Given the description of an element on the screen output the (x, y) to click on. 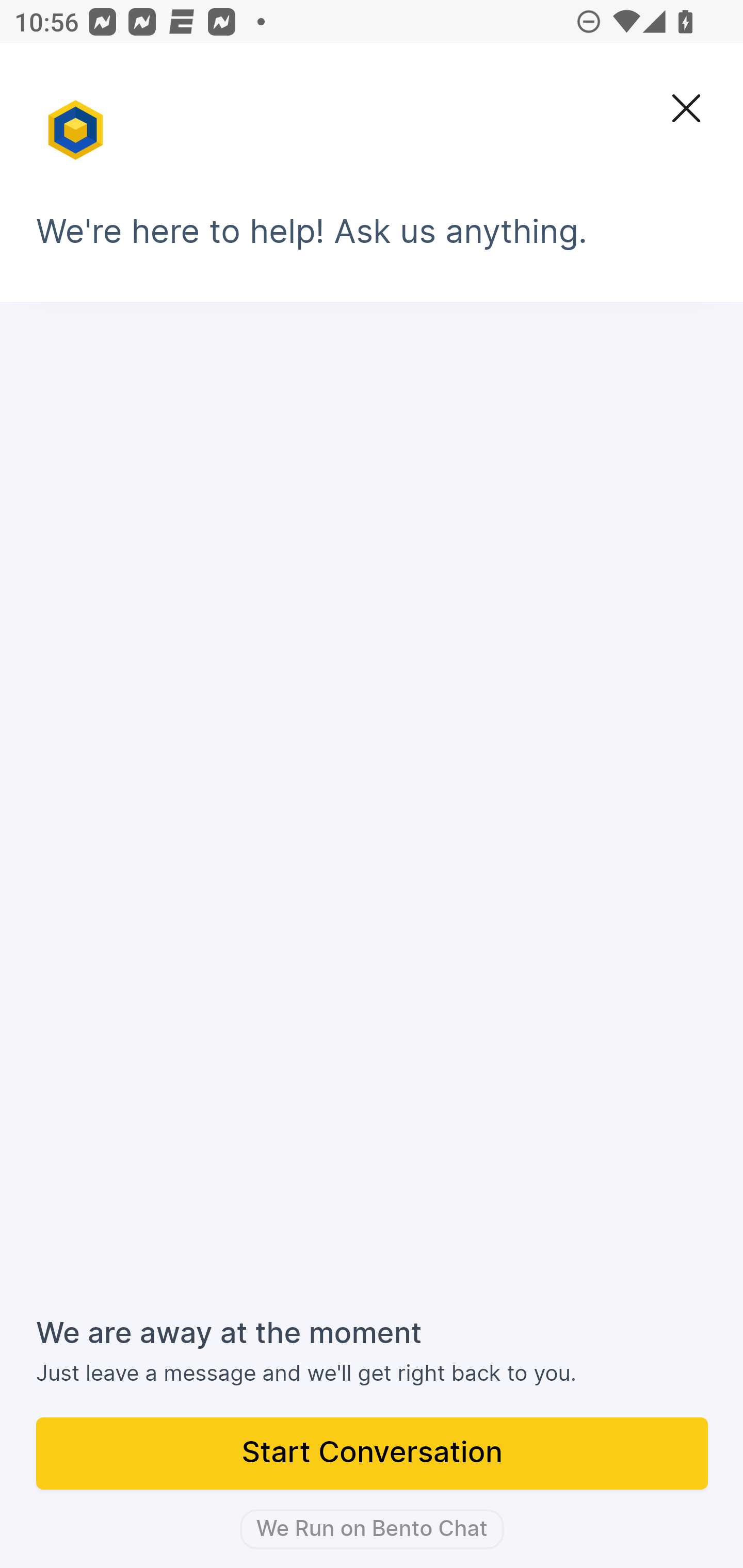
LUMI-ID-Avatar_Transparent-640w (77, 120)
Start Conversation (372, 1454)
We Run on Bento Chat (371, 1529)
